Given the description of an element on the screen output the (x, y) to click on. 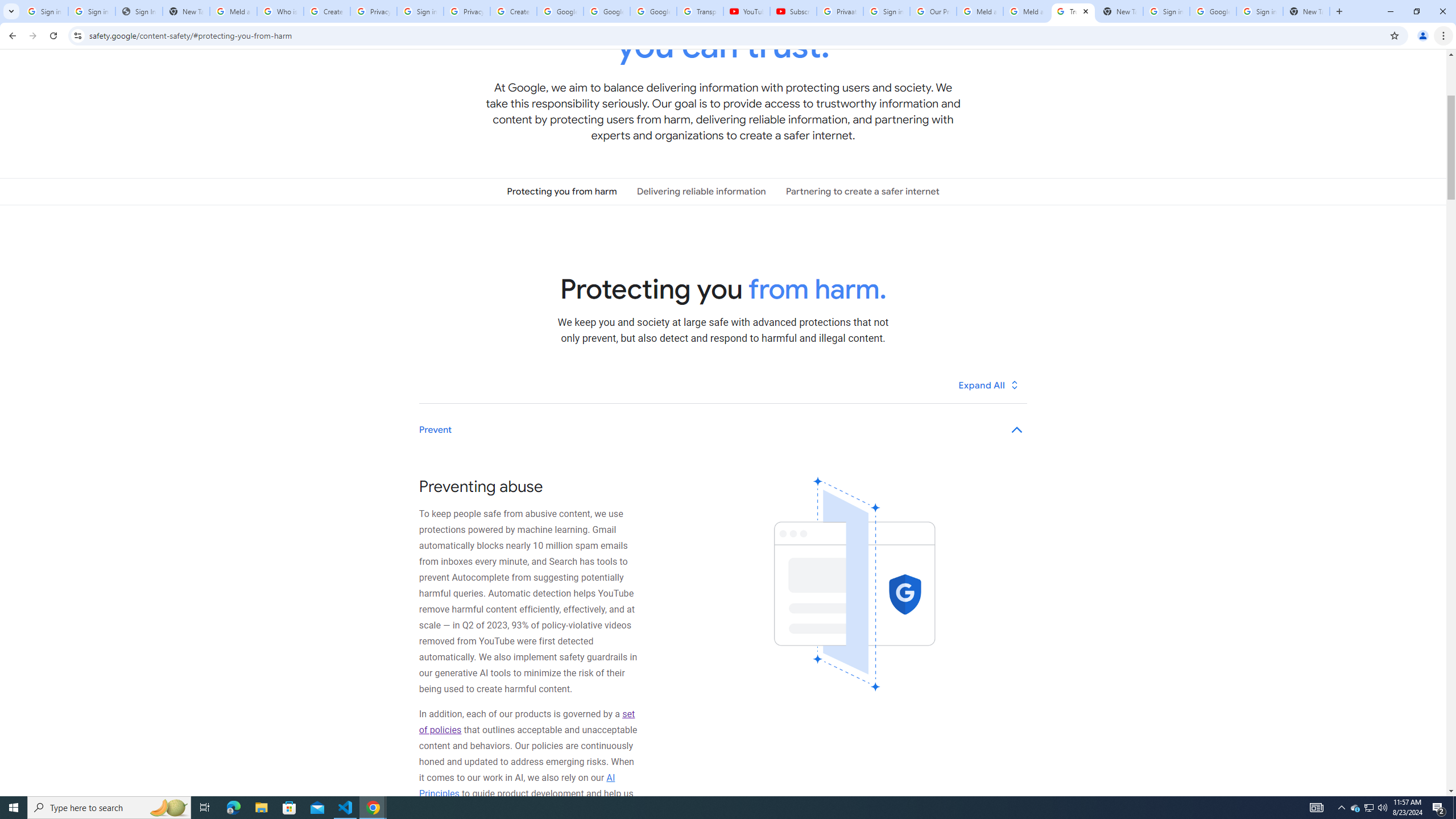
Sign in - Google Accounts (44, 11)
